Given the description of an element on the screen output the (x, y) to click on. 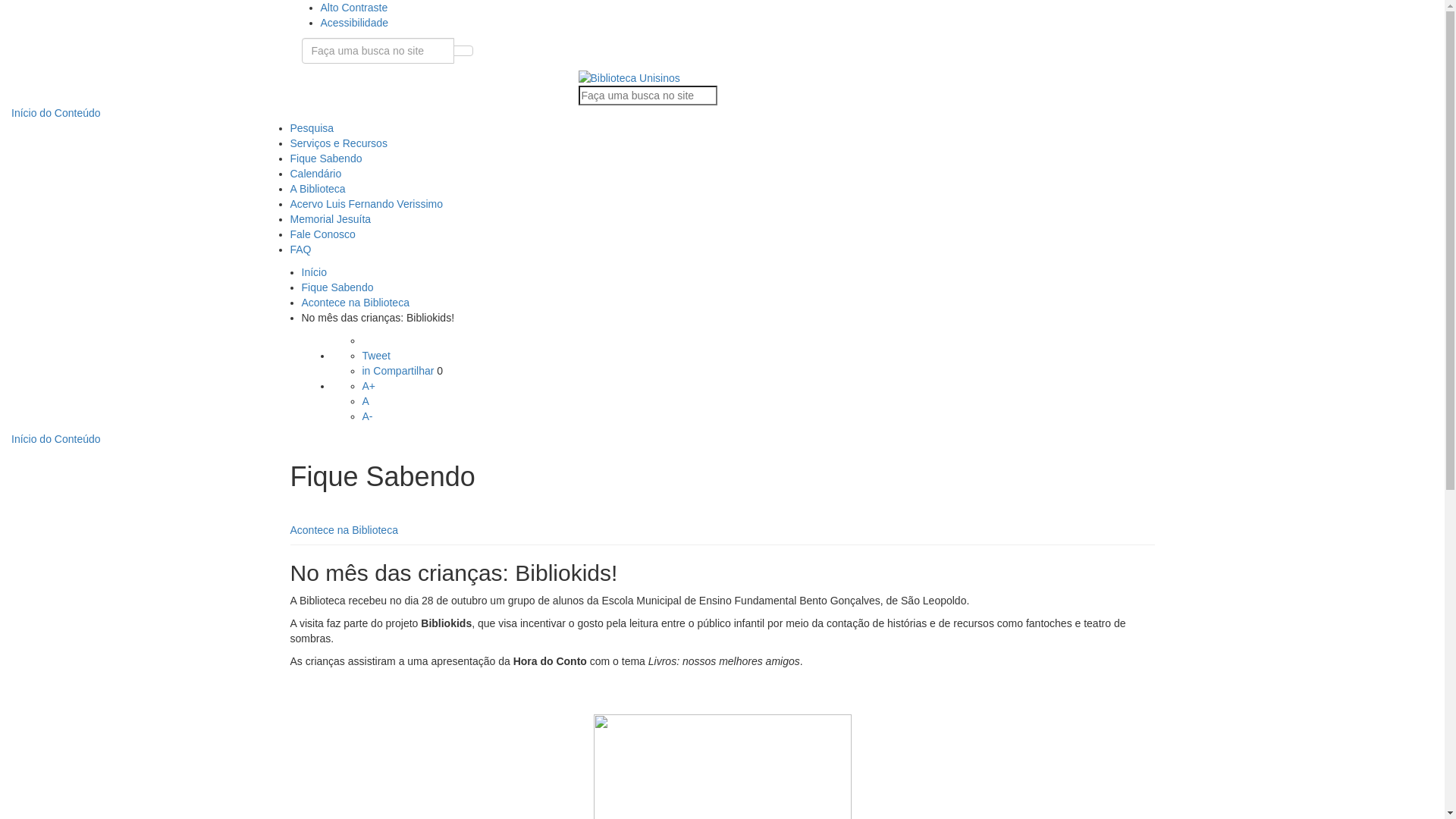
A- Element type: text (367, 416)
A Element type: text (365, 401)
Acessibilidade Element type: text (354, 22)
Busca Element type: hover (646, 95)
Busca Element type: hover (377, 50)
A+ Element type: text (369, 385)
Fique Sabendo Element type: text (325, 158)
Fique Sabendo Element type: text (337, 287)
A Biblioteca Element type: text (317, 188)
Alto Contraste Element type: text (353, 7)
Acervo Luis Fernando Verissimo Element type: text (365, 203)
Fale Conosco Element type: text (321, 234)
Pesquisa Element type: text (311, 128)
Tweet Element type: text (376, 355)
FAQ Element type: text (299, 249)
Acontece na Biblioteca Element type: text (355, 302)
Acontece na Biblioteca Element type: text (343, 530)
in Compartilhar Element type: text (399, 370)
